Given the description of an element on the screen output the (x, y) to click on. 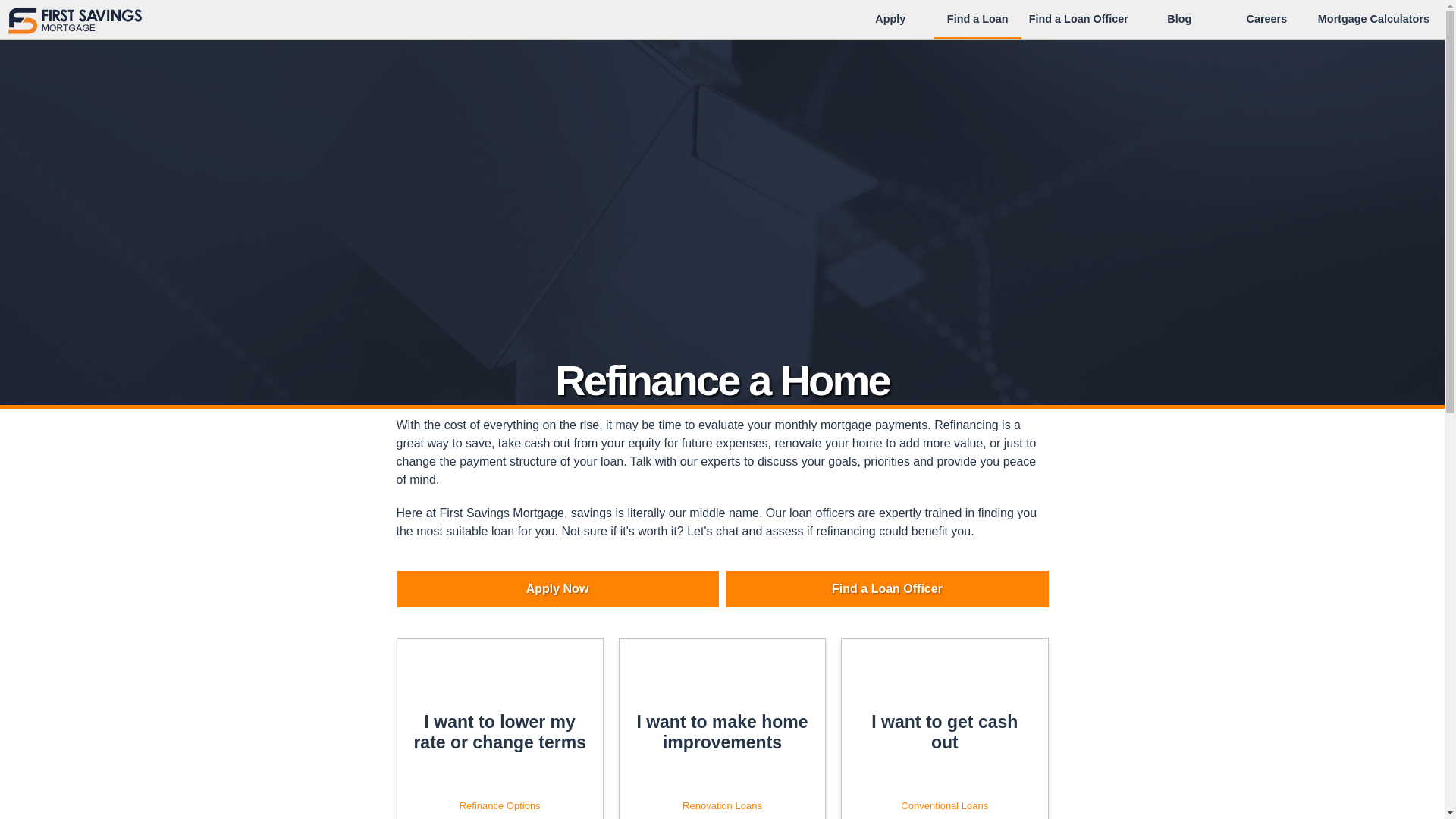
Apply (890, 18)
Find a Loan Officer (887, 588)
Find a Loan Officer (1078, 18)
Find a Loan (977, 18)
Blog (499, 728)
Mortgage Calculators (1178, 18)
Careers (1373, 18)
First Savings Mortgage (1266, 18)
Apply Now (721, 728)
